Given the description of an element on the screen output the (x, y) to click on. 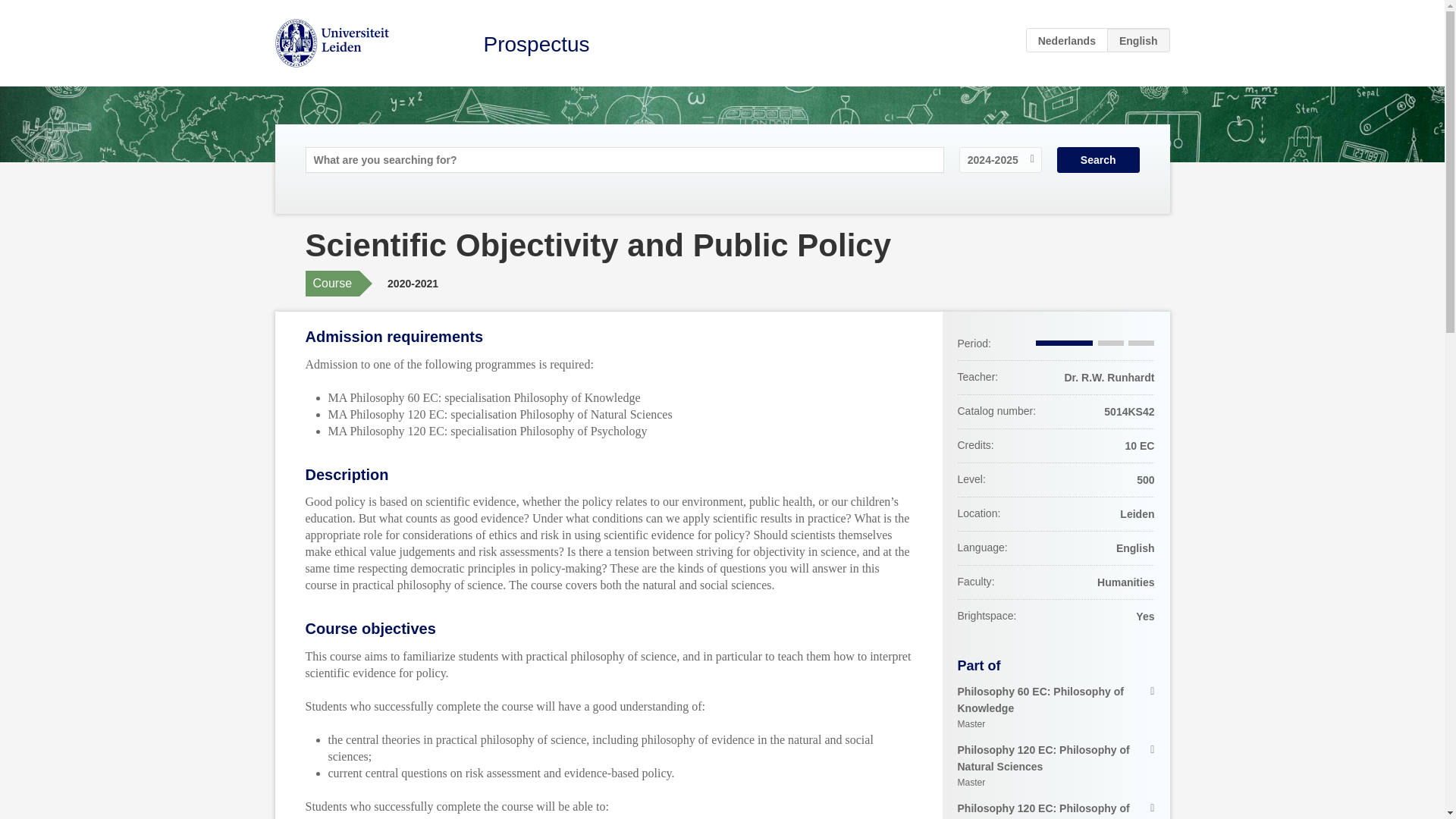
NL (1055, 766)
Prospectus (1067, 39)
Search (536, 44)
